Given the description of an element on the screen output the (x, y) to click on. 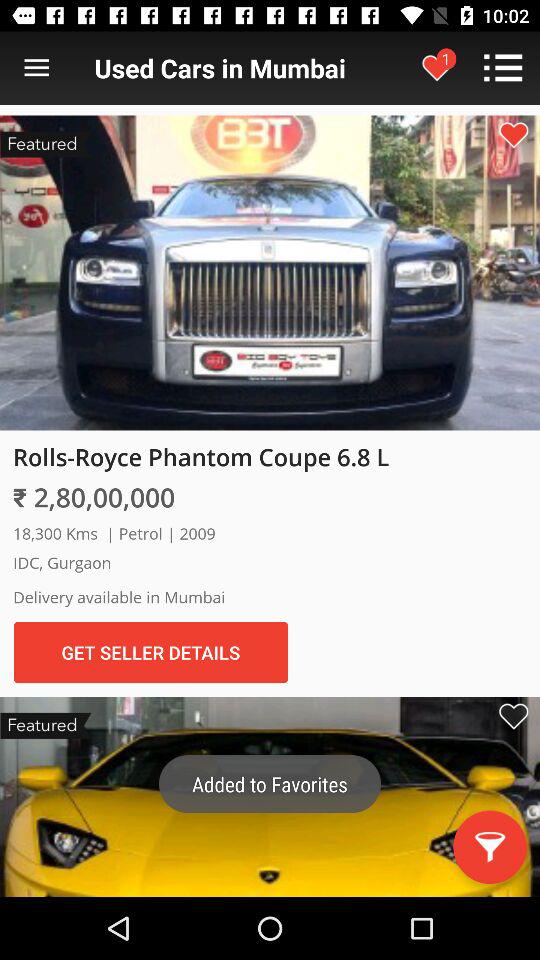
add to favorites (513, 716)
